Given the description of an element on the screen output the (x, y) to click on. 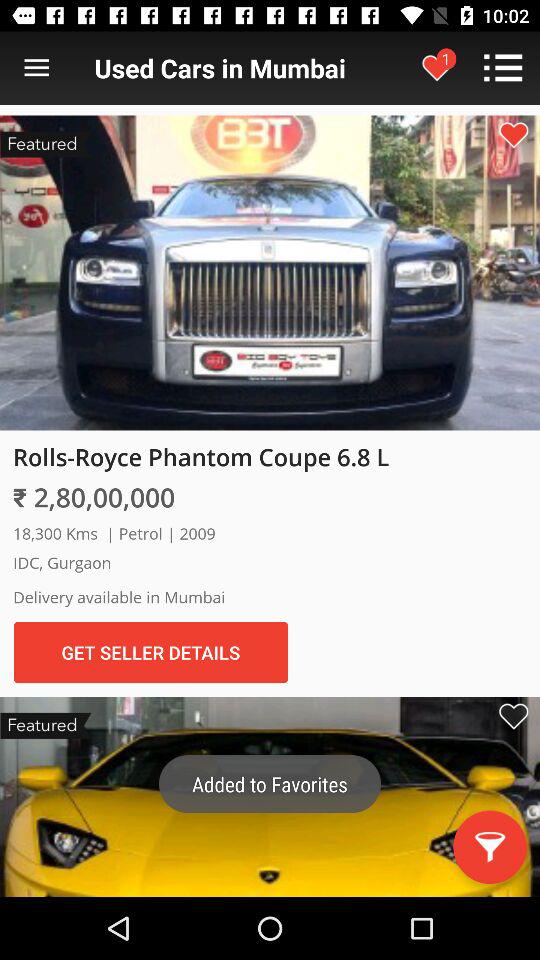
add to favorites (513, 716)
